Given the description of an element on the screen output the (x, y) to click on. 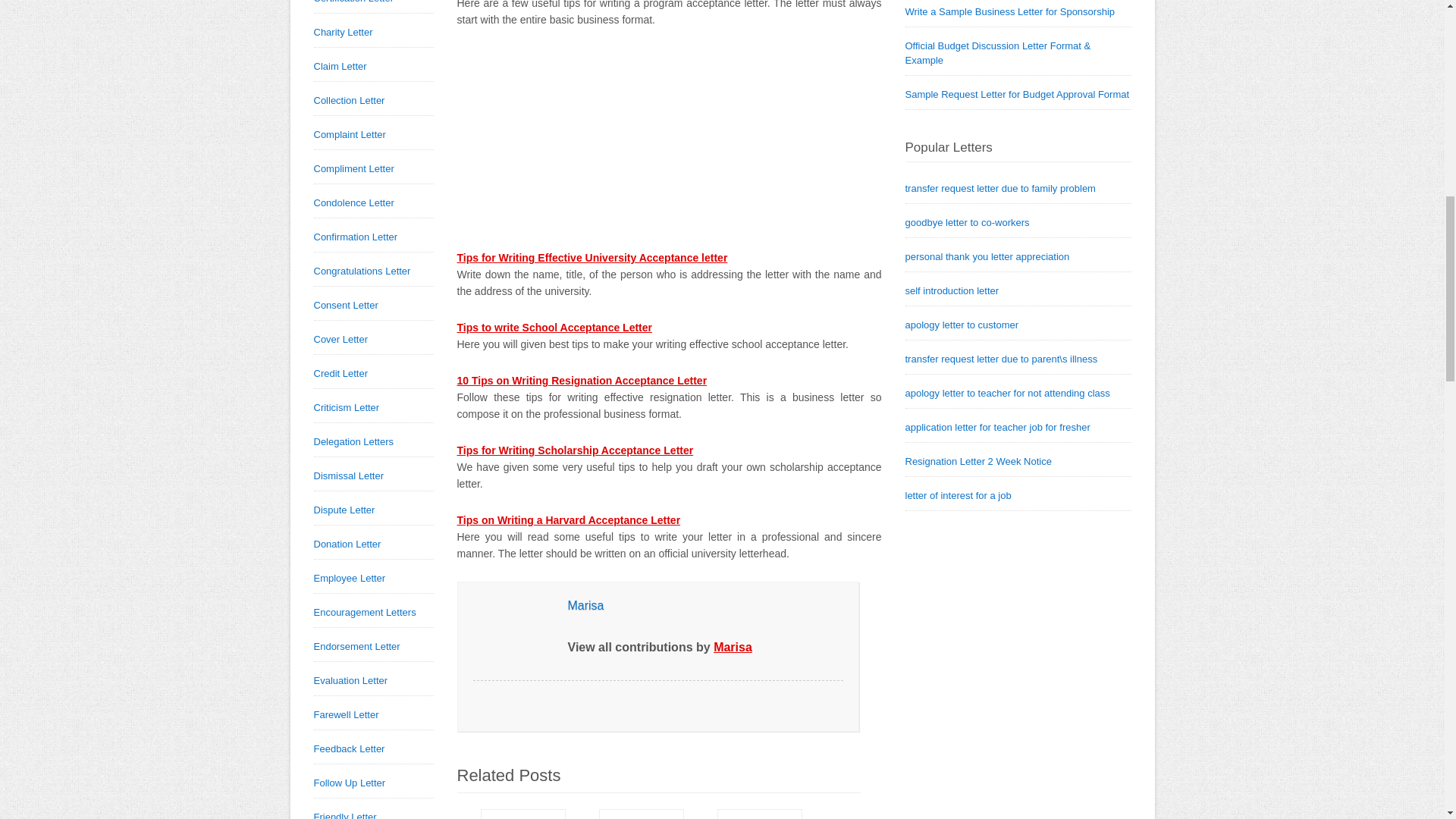
Claim Letter (340, 66)
10 Tips on Writing Resignation Acceptance Letter (581, 380)
Marisa (585, 604)
personal thank you letter appreciation (987, 256)
Sample Letter for Collection of Overdue Payment (520, 814)
self introduction letter (951, 290)
apology letter to teacher for not attending class (1007, 392)
Tips to write School Acceptance Letter (554, 327)
